Given the description of an element on the screen output the (x, y) to click on. 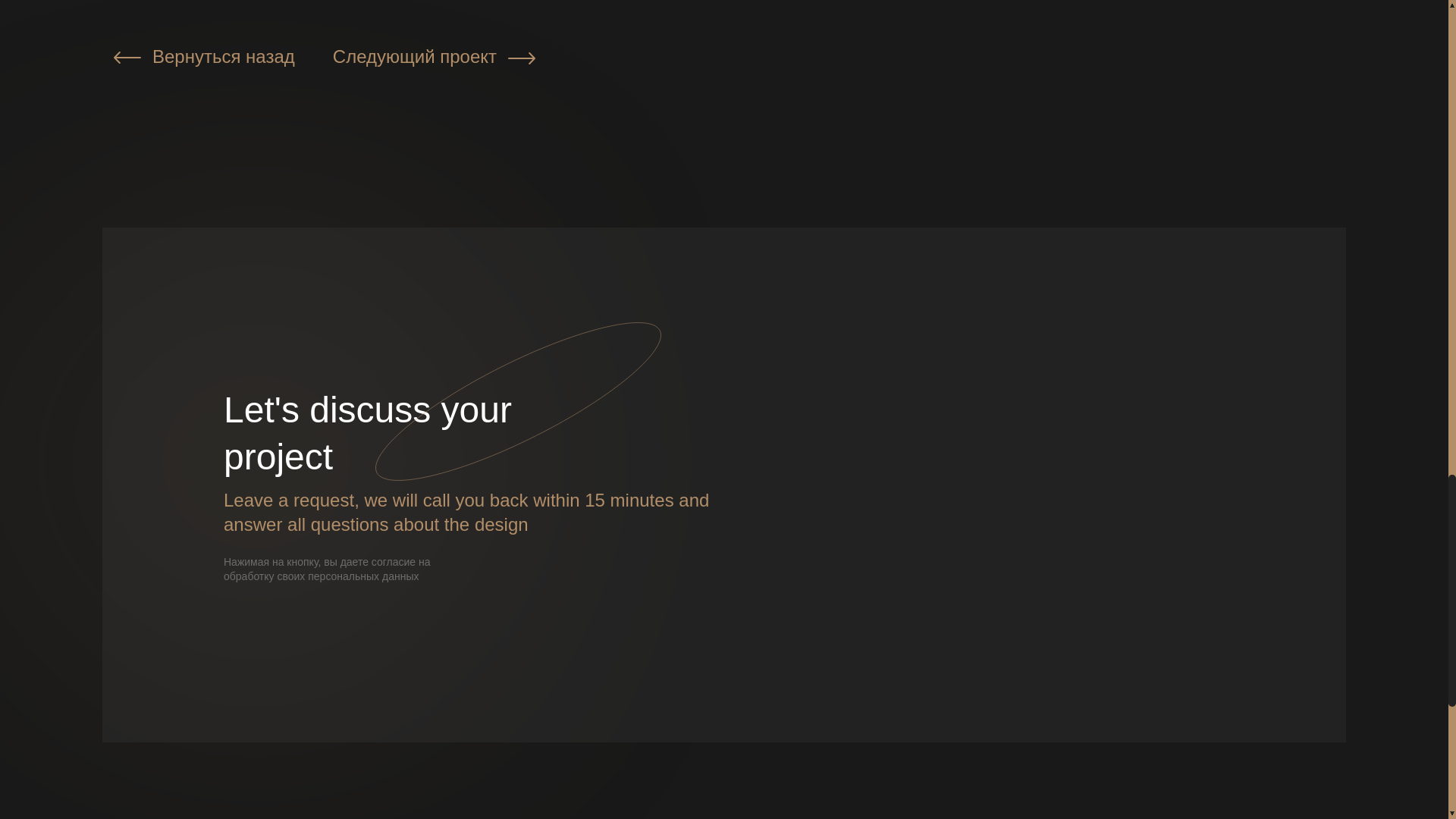
Call me (1034, 577)
